Given the description of an element on the screen output the (x, y) to click on. 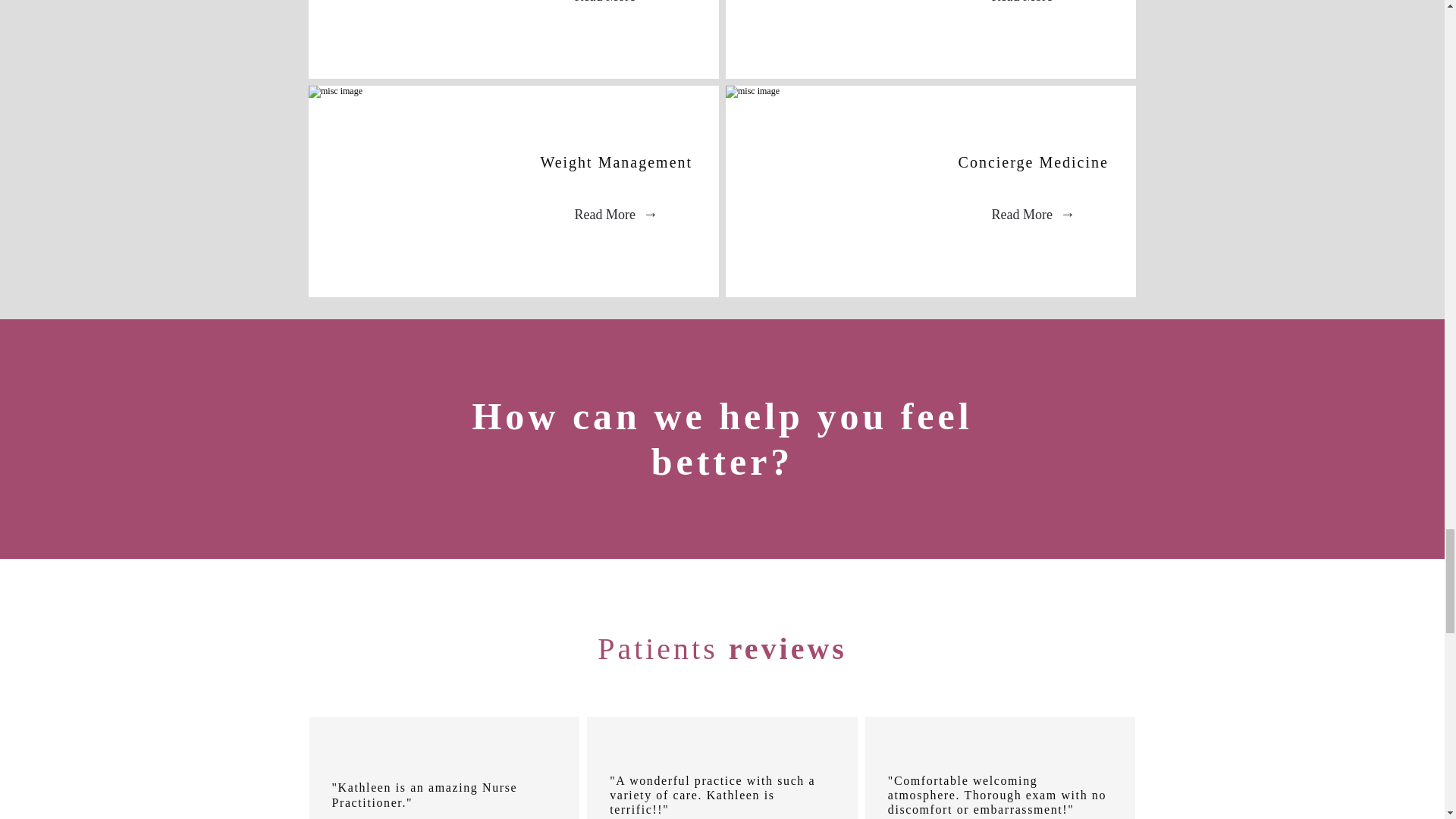
Read More (1032, 11)
Weight Management (616, 161)
Read More (615, 11)
